Given the description of an element on the screen output the (x, y) to click on. 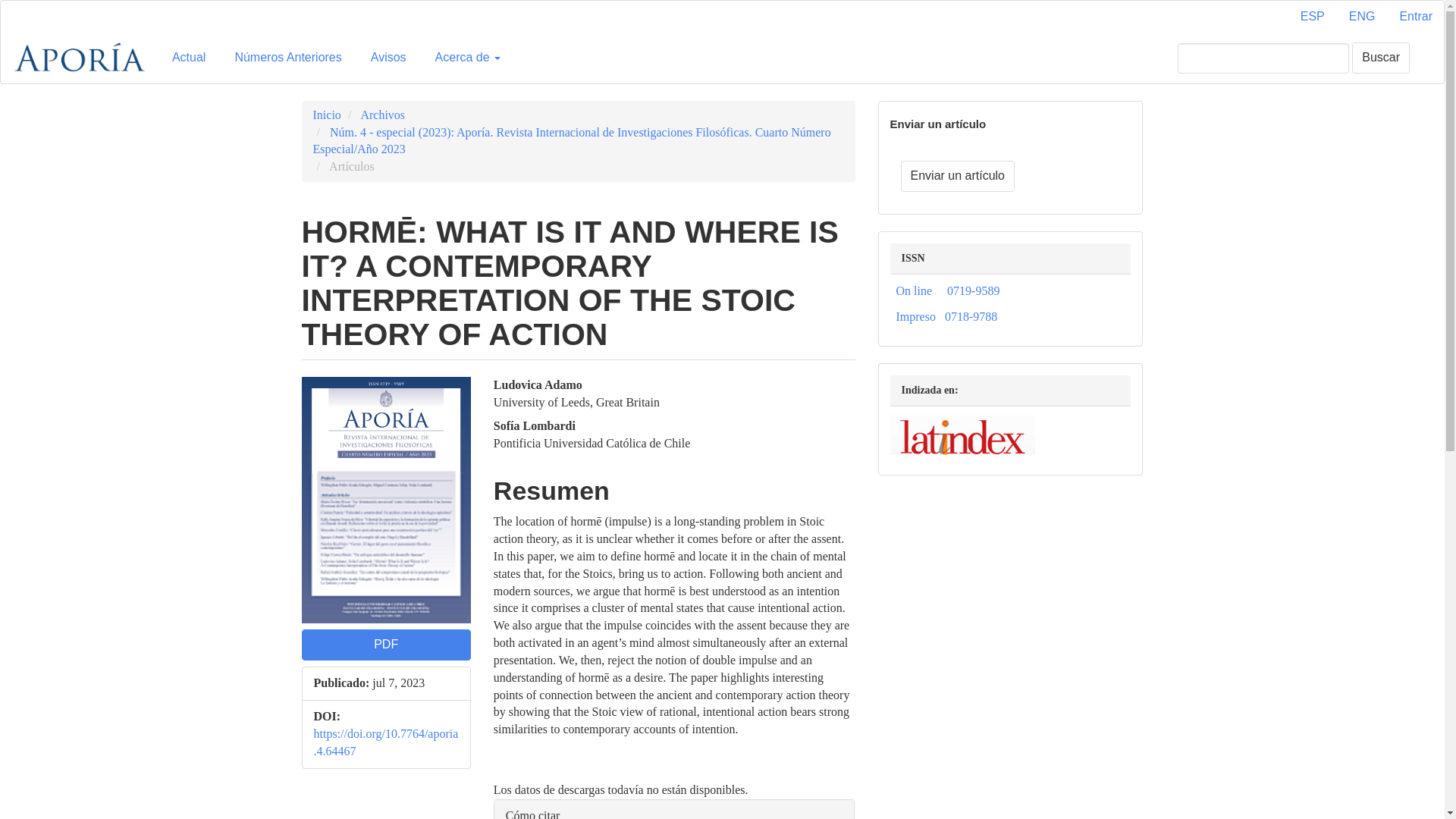
Inicio (326, 114)
PDF (385, 644)
ESP (1312, 16)
Acerca de (468, 57)
Entrar (1415, 16)
Avisos (388, 57)
Actual (188, 57)
ENG (1362, 16)
Buscar (1380, 57)
Archivos (381, 114)
